Given the description of an element on the screen output the (x, y) to click on. 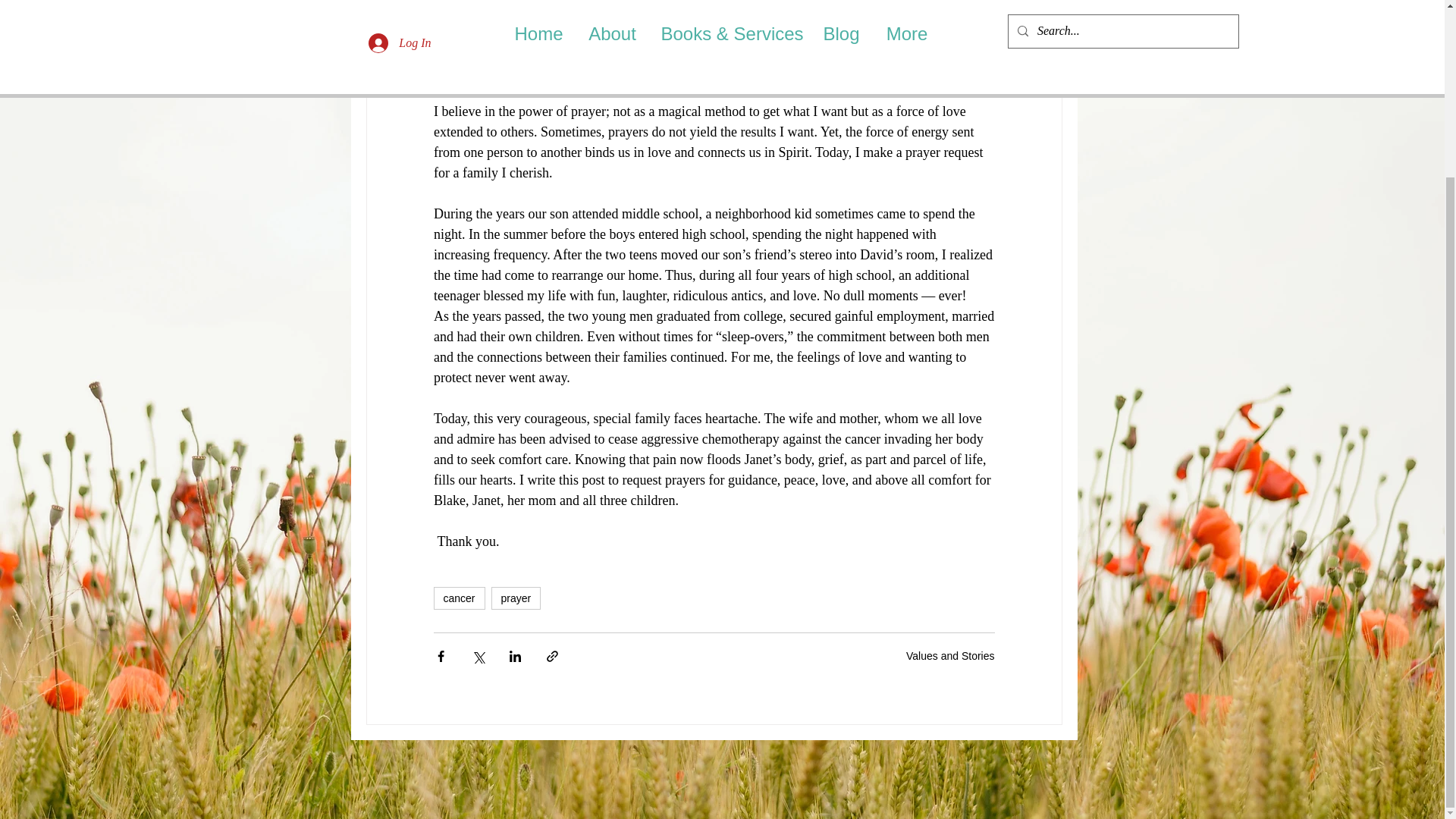
Barbara Frandsen (505, 16)
Jun 8, 2022 (593, 15)
1 min read (659, 15)
Barbara Frandsen (493, 15)
prayer (516, 598)
cancer (458, 598)
Values and Stories (949, 655)
